Given the description of an element on the screen output the (x, y) to click on. 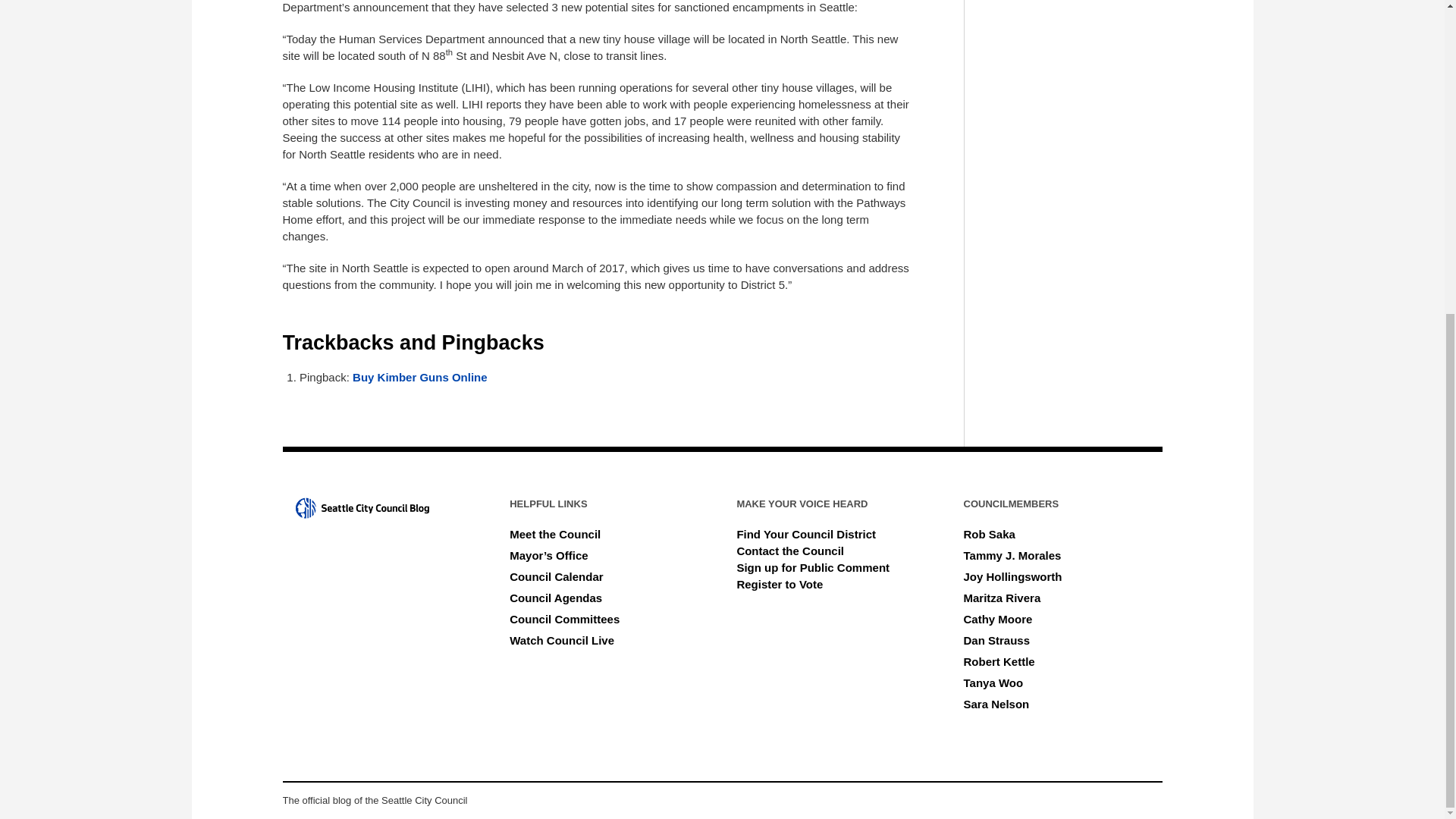
Council Committees (564, 618)
Sign up for Public Comment (812, 567)
Register to Vote (779, 584)
Buy Kimber Guns Online (419, 377)
Watch Council Live (561, 640)
Council Calendar (555, 576)
Contact the Council (790, 550)
Tammy J. Morales (1012, 554)
Meet the Council (554, 533)
Find Your Council District (806, 533)
Maritza Rivera (1002, 597)
Joy Hollingsworth (1012, 576)
Council Agendas (555, 597)
Rob Saka (988, 533)
